Given the description of an element on the screen output the (x, y) to click on. 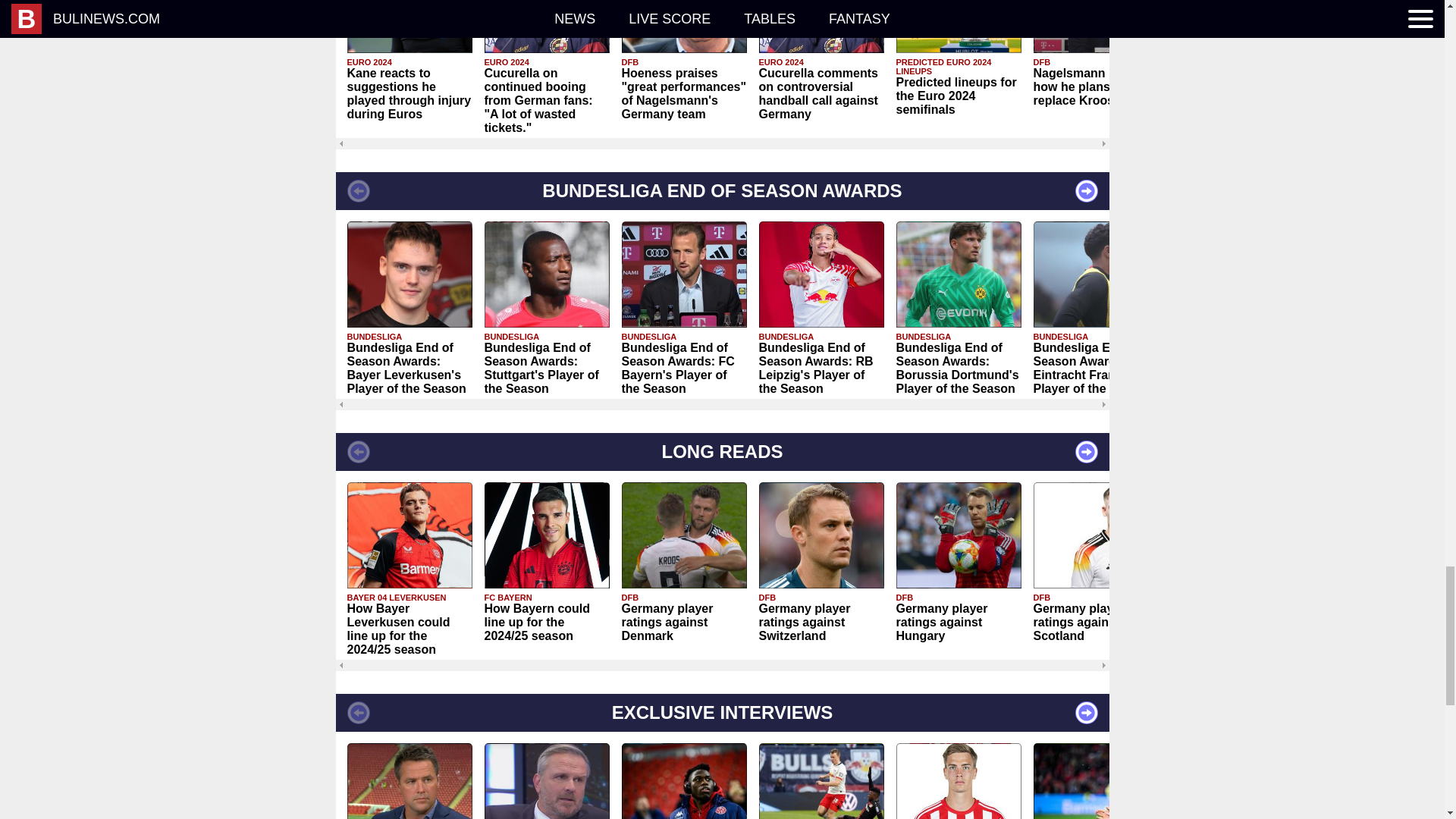
LONG READS (721, 451)
EXCLUSIVE INTERVIEWS (721, 712)
BUNDESLIGA END OF SEASON AWARDS (721, 190)
